Given the description of an element on the screen output the (x, y) to click on. 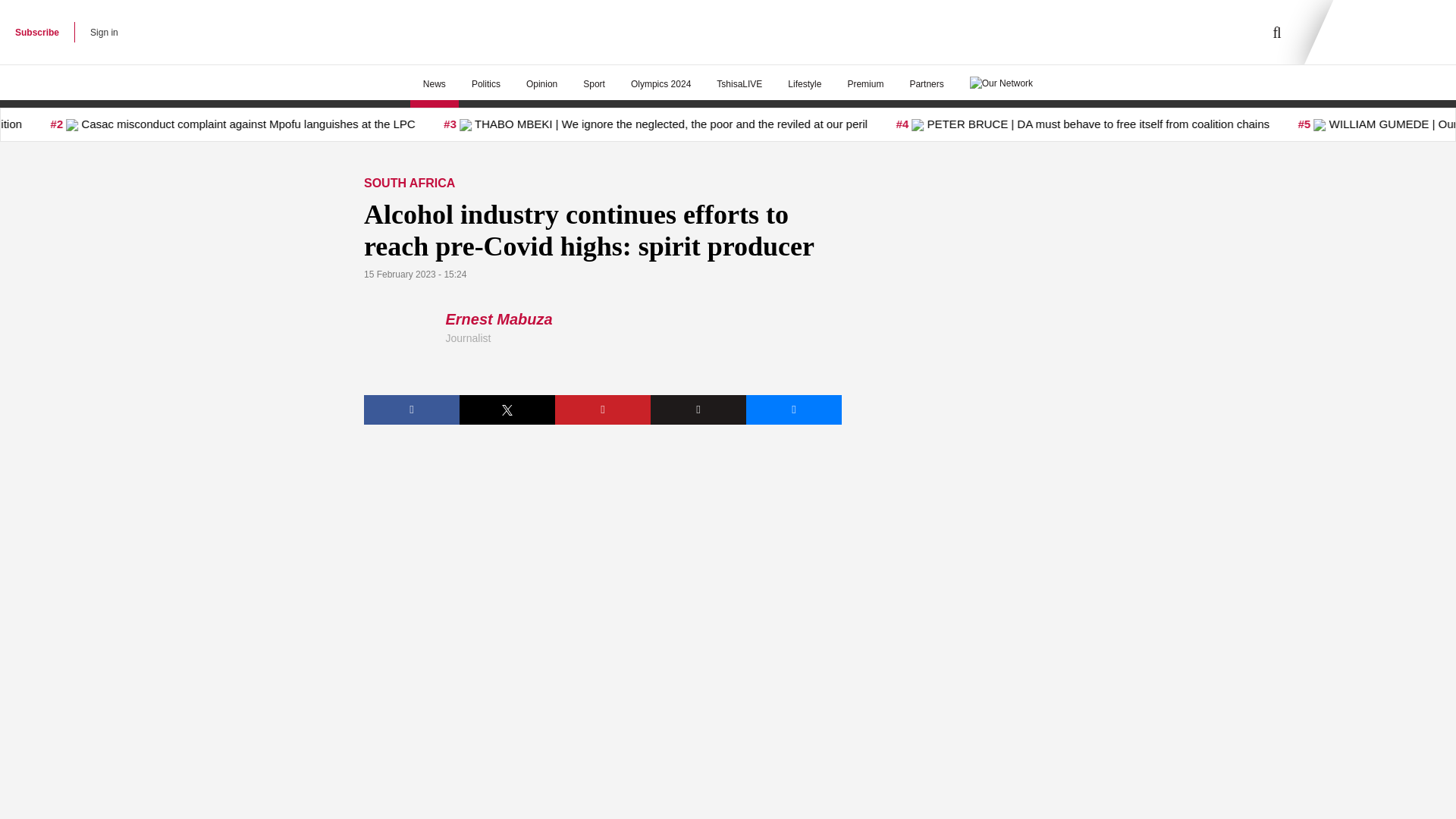
Premium (865, 84)
Partners (926, 84)
Opinion (541, 84)
Lifestyle (804, 84)
Sign in (103, 32)
Sport (593, 84)
Politics (485, 84)
Subscribe (36, 32)
Olympics 2024 (660, 84)
TshisaLIVE (738, 84)
